Given the description of an element on the screen output the (x, y) to click on. 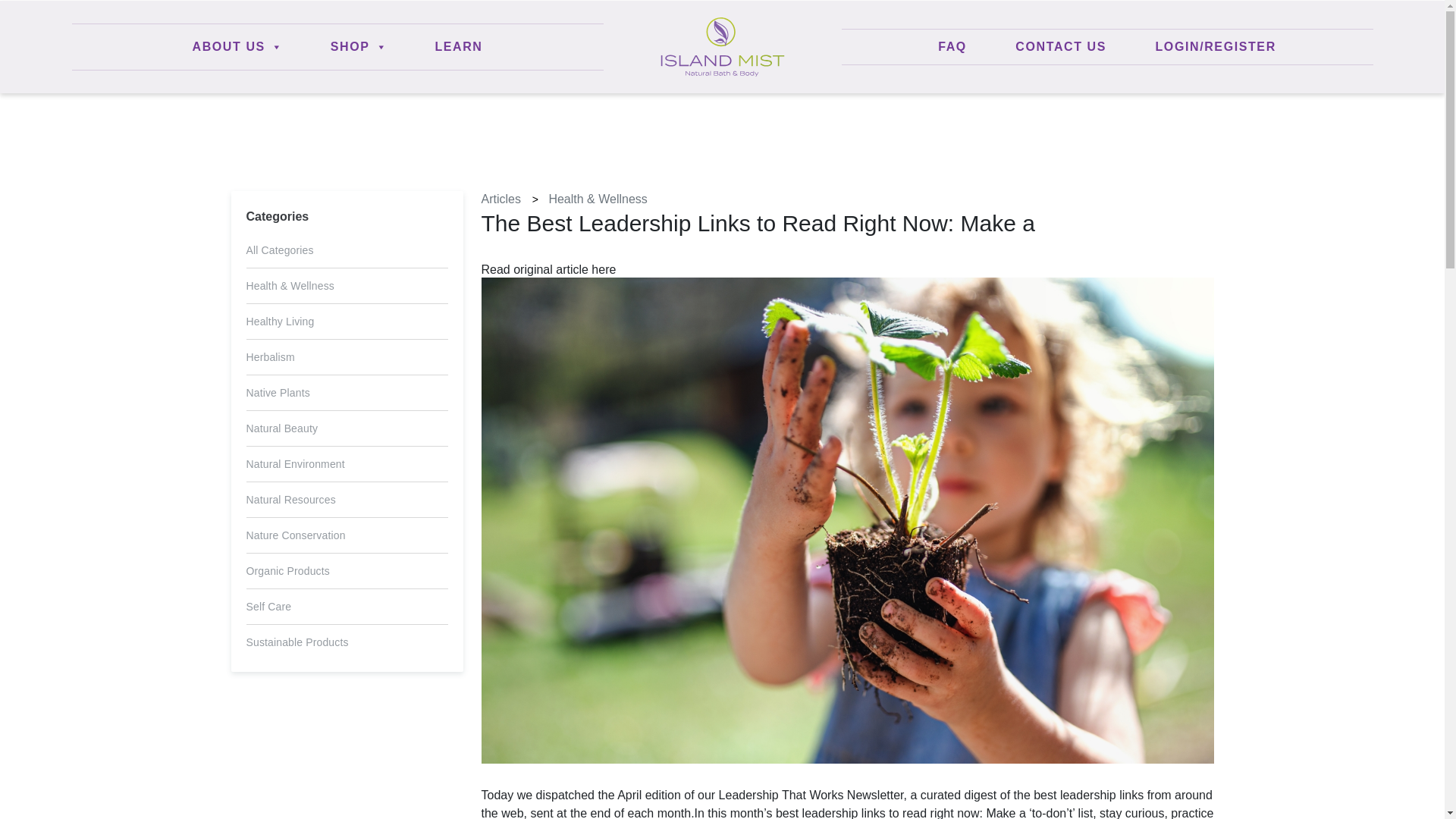
Island Mist logo (721, 46)
Island Mist logo (721, 45)
